Given the description of an element on the screen output the (x, y) to click on. 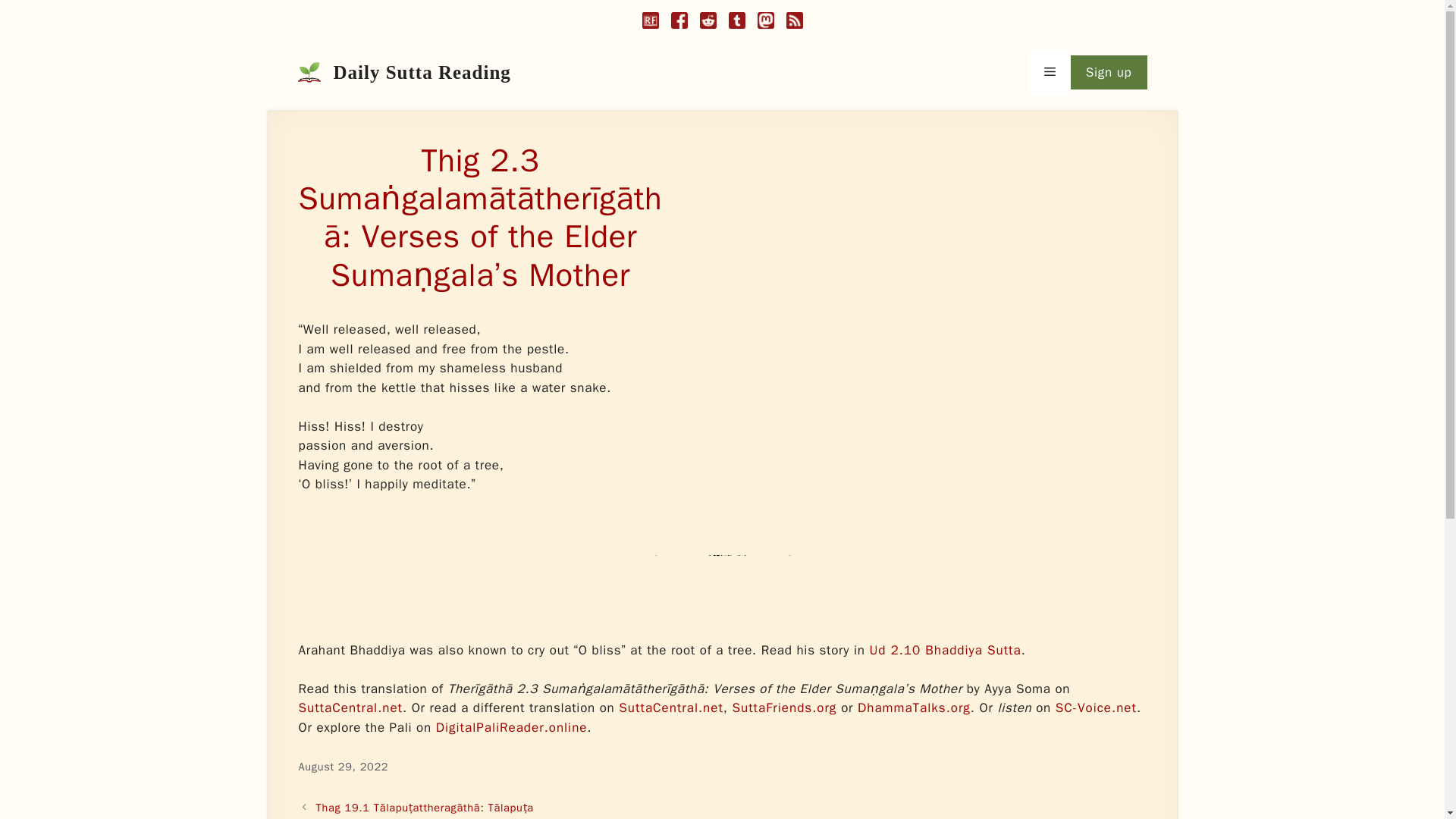
SC-Voice.net (1096, 707)
Sign up (1108, 72)
DigitalPaliReader.online (511, 727)
Daily Sutta Reading (422, 72)
Menu (1049, 72)
Ud 2.10 Bhaddiya Sutta (944, 650)
Sign up (1108, 72)
SuttaCentral.net (670, 707)
Sign up (1108, 72)
SuttaFriends.org (783, 707)
